Given the description of an element on the screen output the (x, y) to click on. 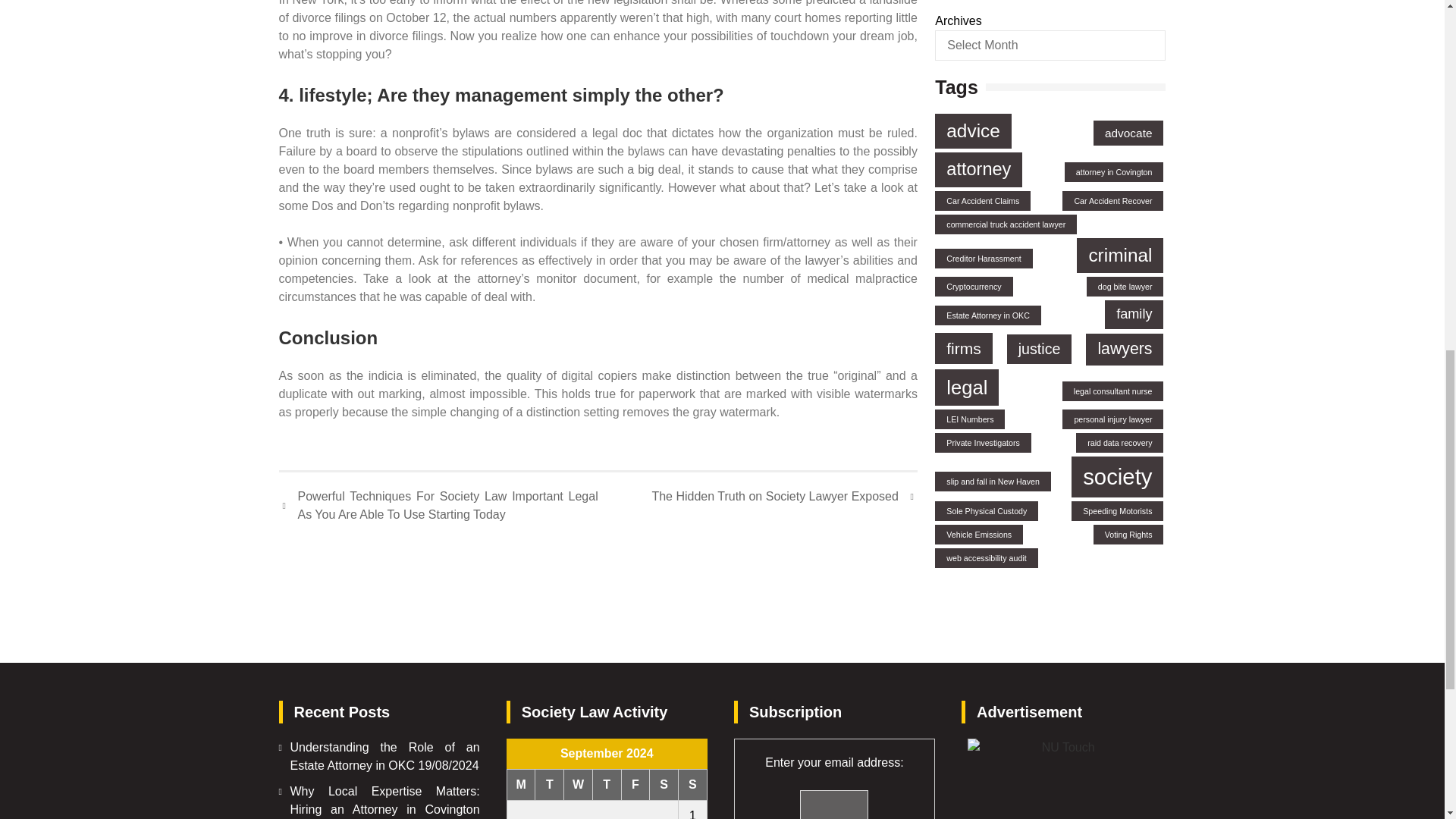
Saturday (663, 784)
Wednesday (578, 784)
Friday (635, 784)
The Hidden Truth on Society Lawyer Exposed (783, 496)
Monday (520, 784)
Sunday (692, 784)
Tuesday (549, 784)
Thursday (606, 784)
